Given the description of an element on the screen output the (x, y) to click on. 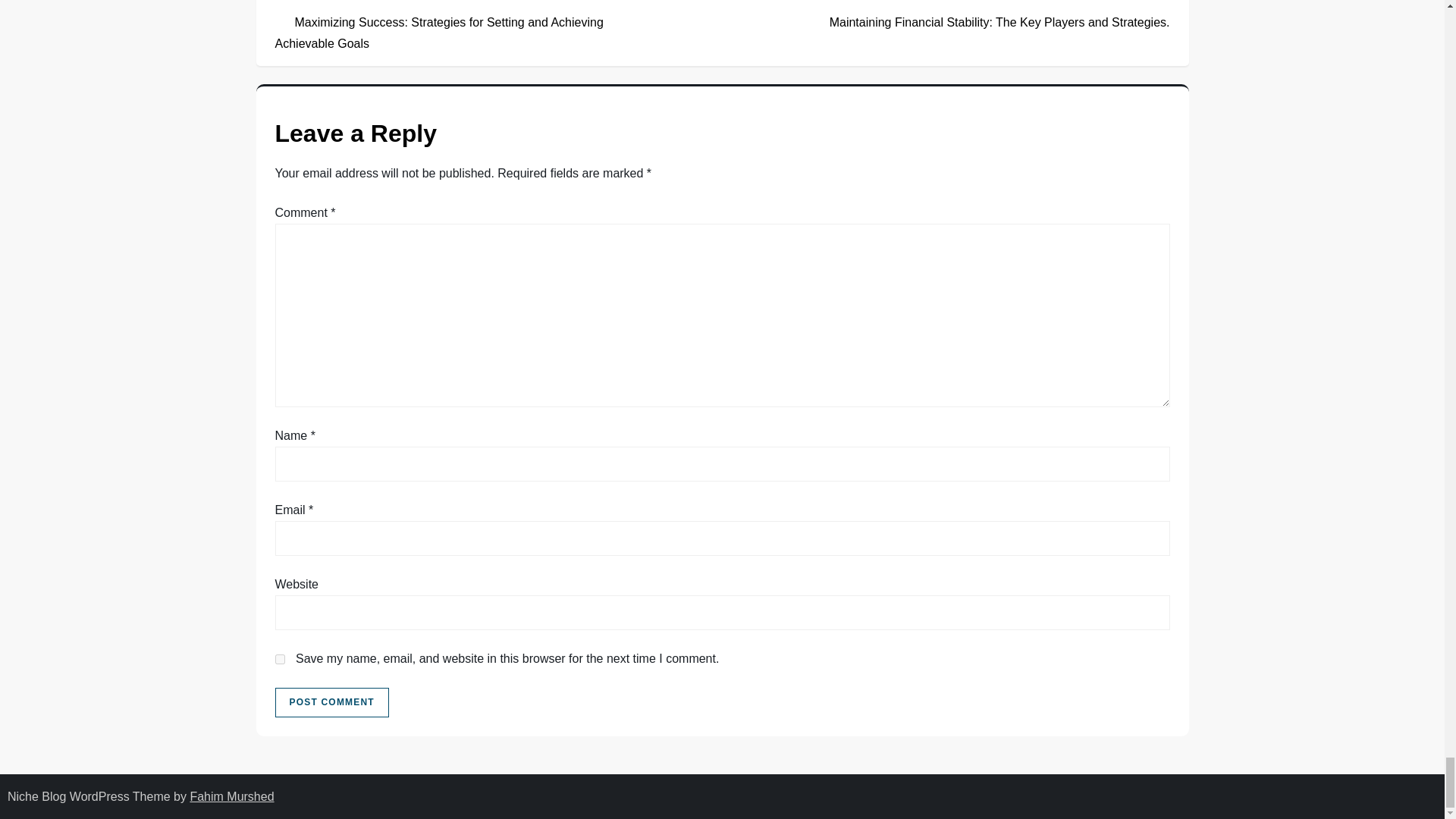
yes (279, 659)
Post Comment (331, 702)
